Given the description of an element on the screen output the (x, y) to click on. 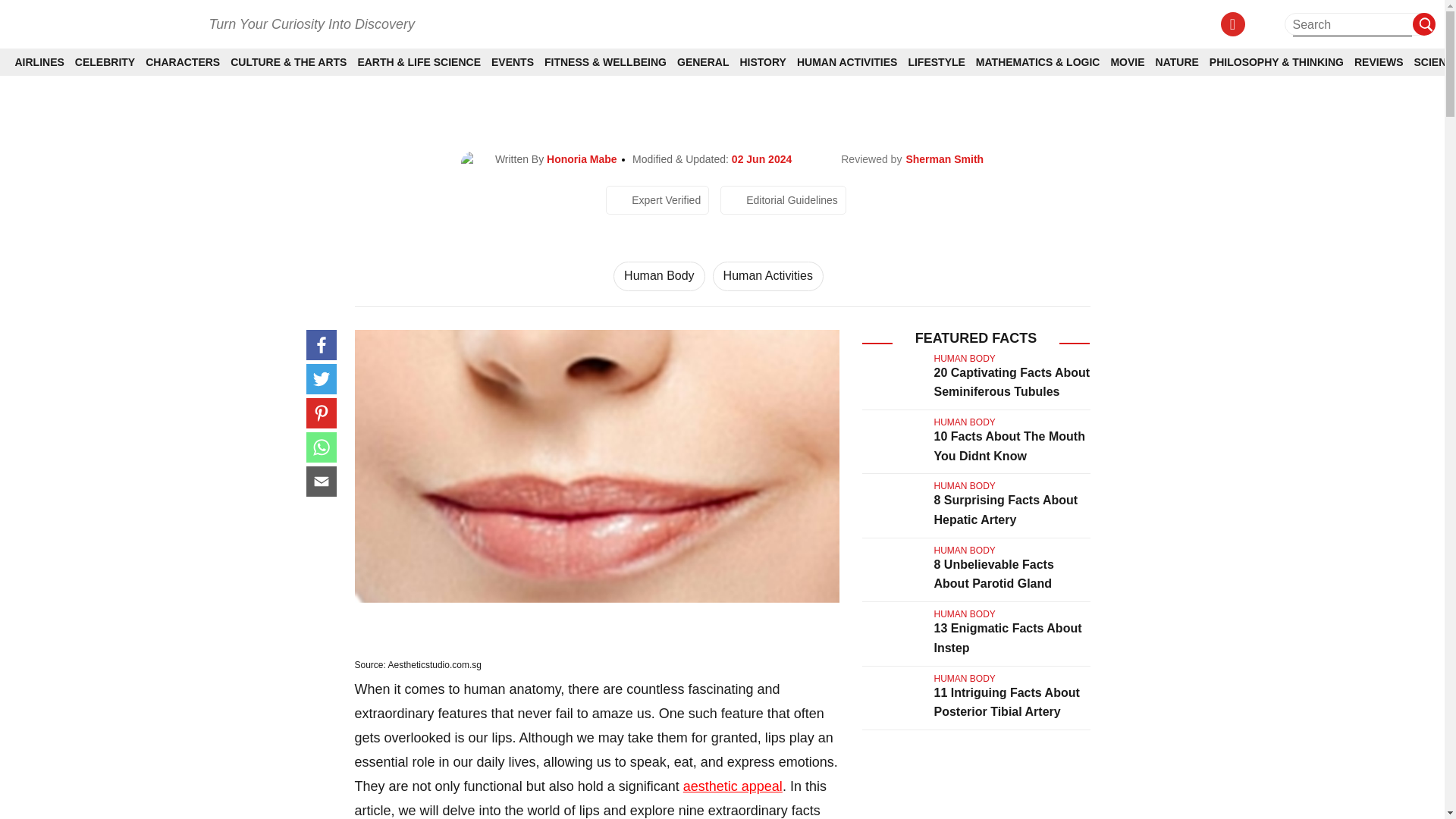
CELEBRITY (105, 62)
AIRLINES (39, 62)
aesthetic appeal (732, 785)
CHARACTERS (182, 62)
GENERAL (703, 62)
HISTORY (762, 62)
HUMAN ACTIVITIES (846, 62)
Facts.net (100, 23)
LIFESTYLE (935, 62)
20 Captivating Facts About Seminiferous Tubules  (1012, 382)
EVENTS (513, 62)
